Given the description of an element on the screen output the (x, y) to click on. 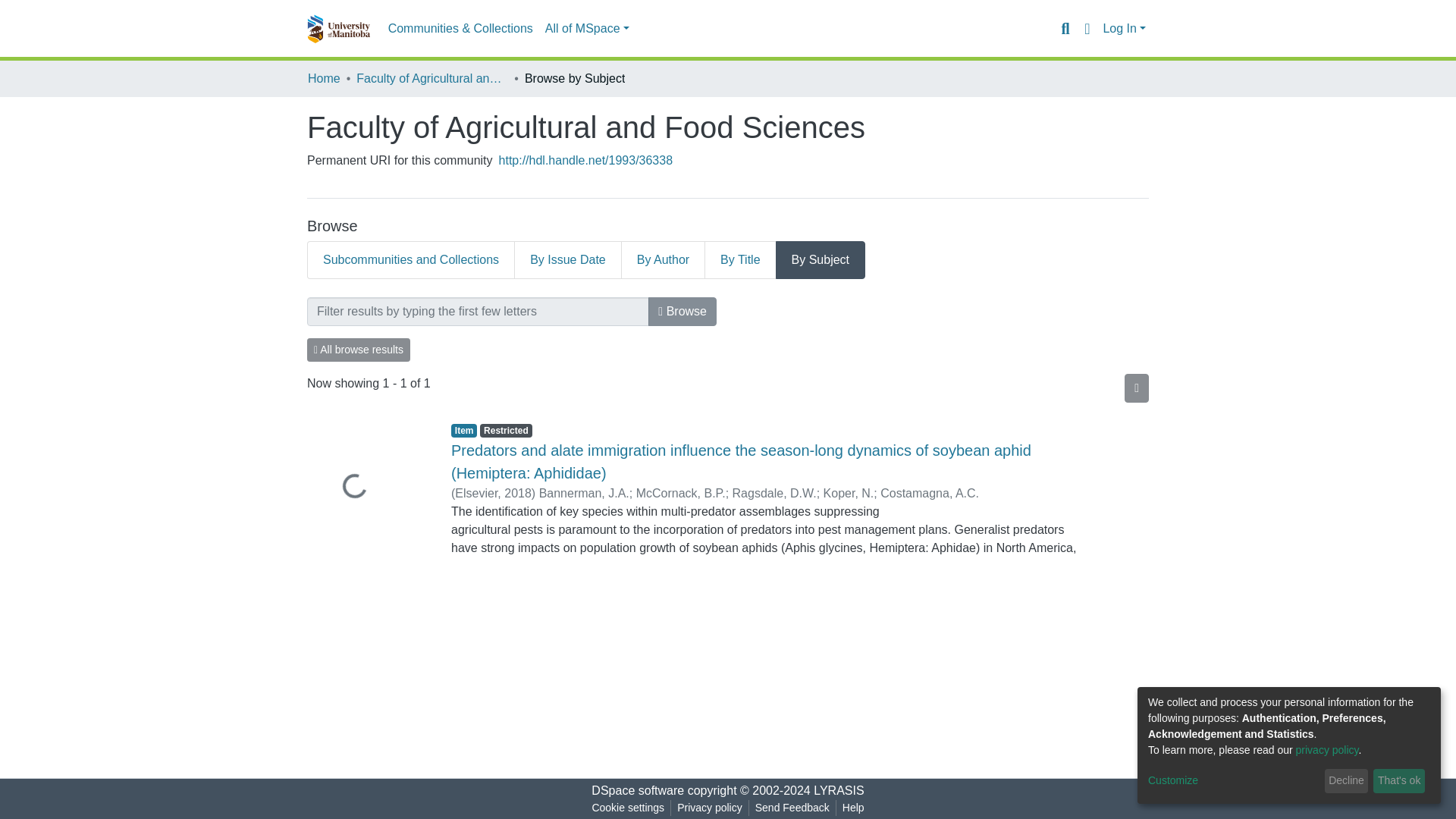
Language switch (1086, 28)
By Title (740, 259)
Browse (681, 311)
Home (323, 78)
Log In (1123, 28)
All browse results (358, 349)
Search (1064, 28)
Faculty of Agricultural and Food Sciences (432, 78)
All of MSpace (586, 28)
LYRASIS (838, 789)
